Given the description of an element on the screen output the (x, y) to click on. 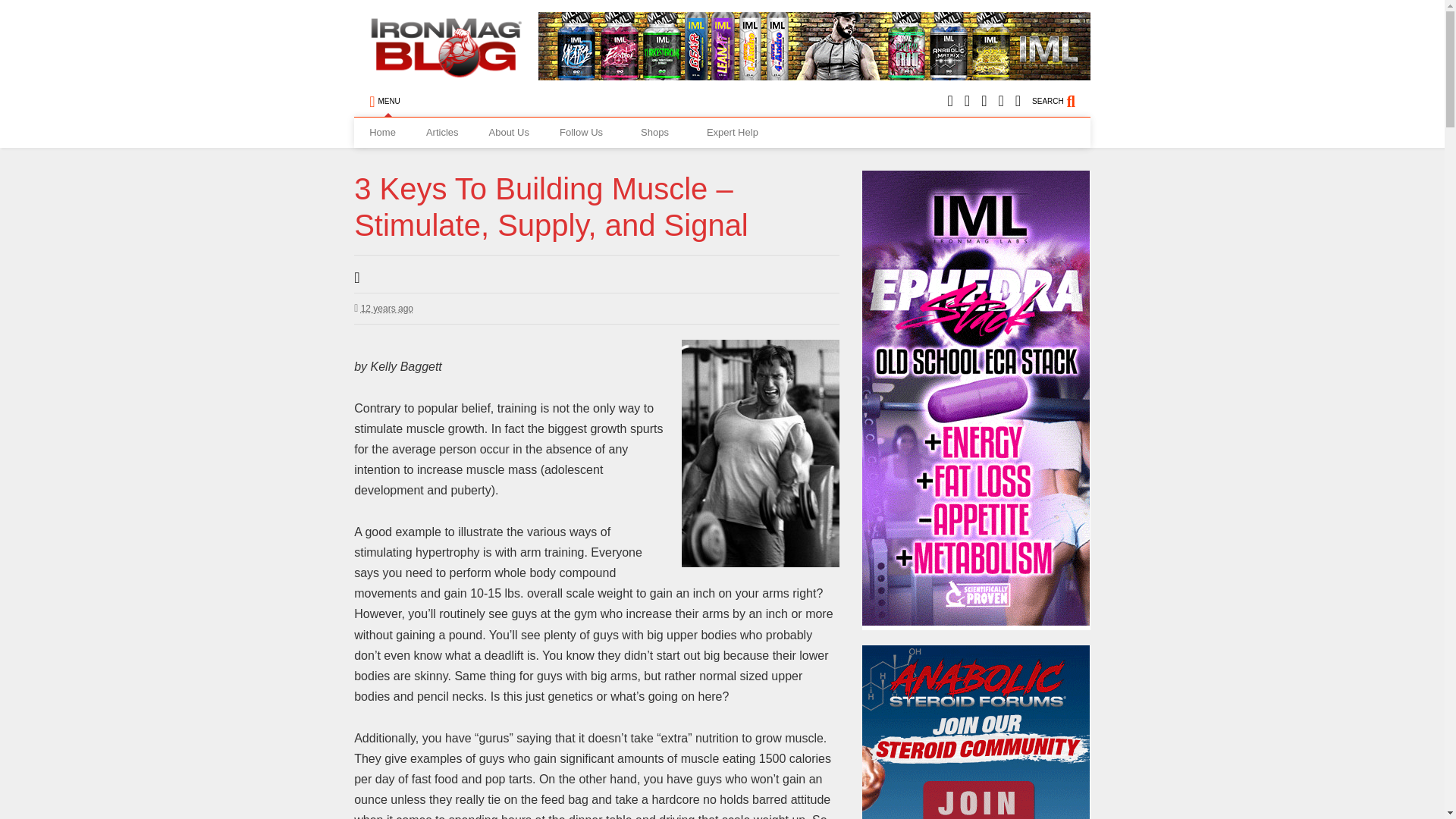
Expert Help (732, 132)
SEARCH (1061, 101)
Home (381, 132)
MENU (383, 101)
Articles (442, 132)
Online Shops (658, 132)
Follow Us (585, 132)
About Us (508, 132)
Follow Us (585, 132)
About Us (508, 132)
